Given the description of an element on the screen output the (x, y) to click on. 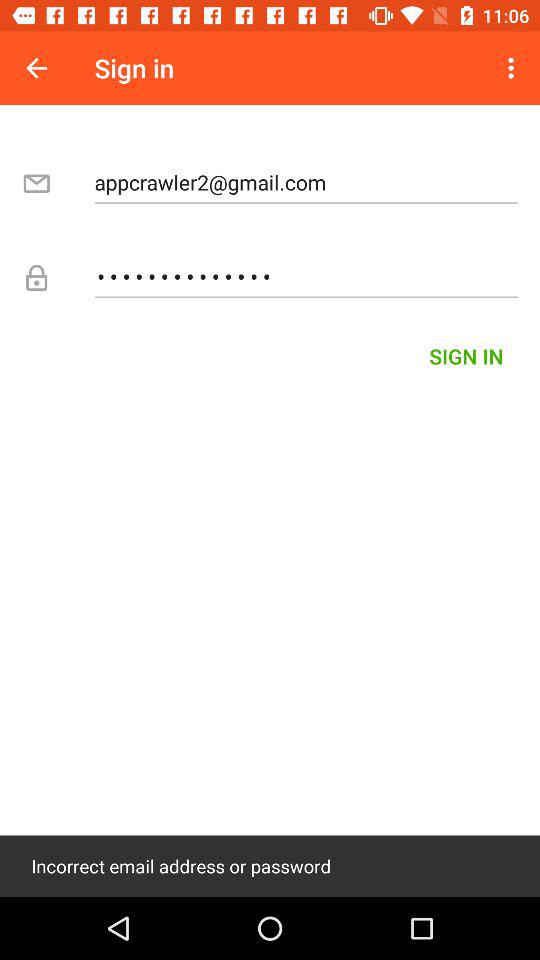
jump until the appcrawler3116 icon (306, 276)
